Given the description of an element on the screen output the (x, y) to click on. 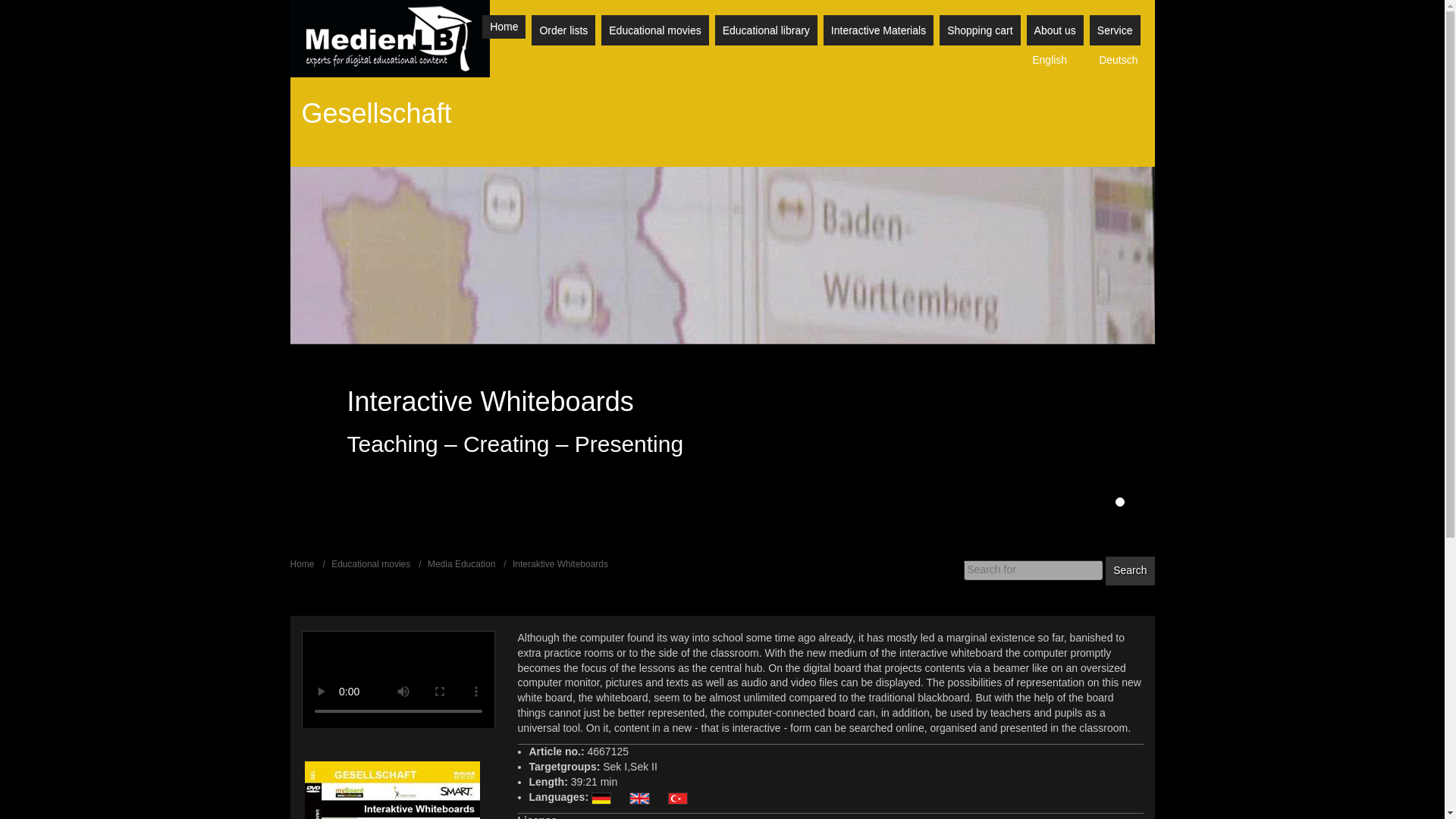
Order lists (563, 30)
Interactive Materials (878, 30)
Educational movies (654, 30)
Educational library (765, 30)
About us (1054, 30)
Shopping cart (979, 30)
Home (503, 26)
Service (1114, 30)
